Given the description of an element on the screen output the (x, y) to click on. 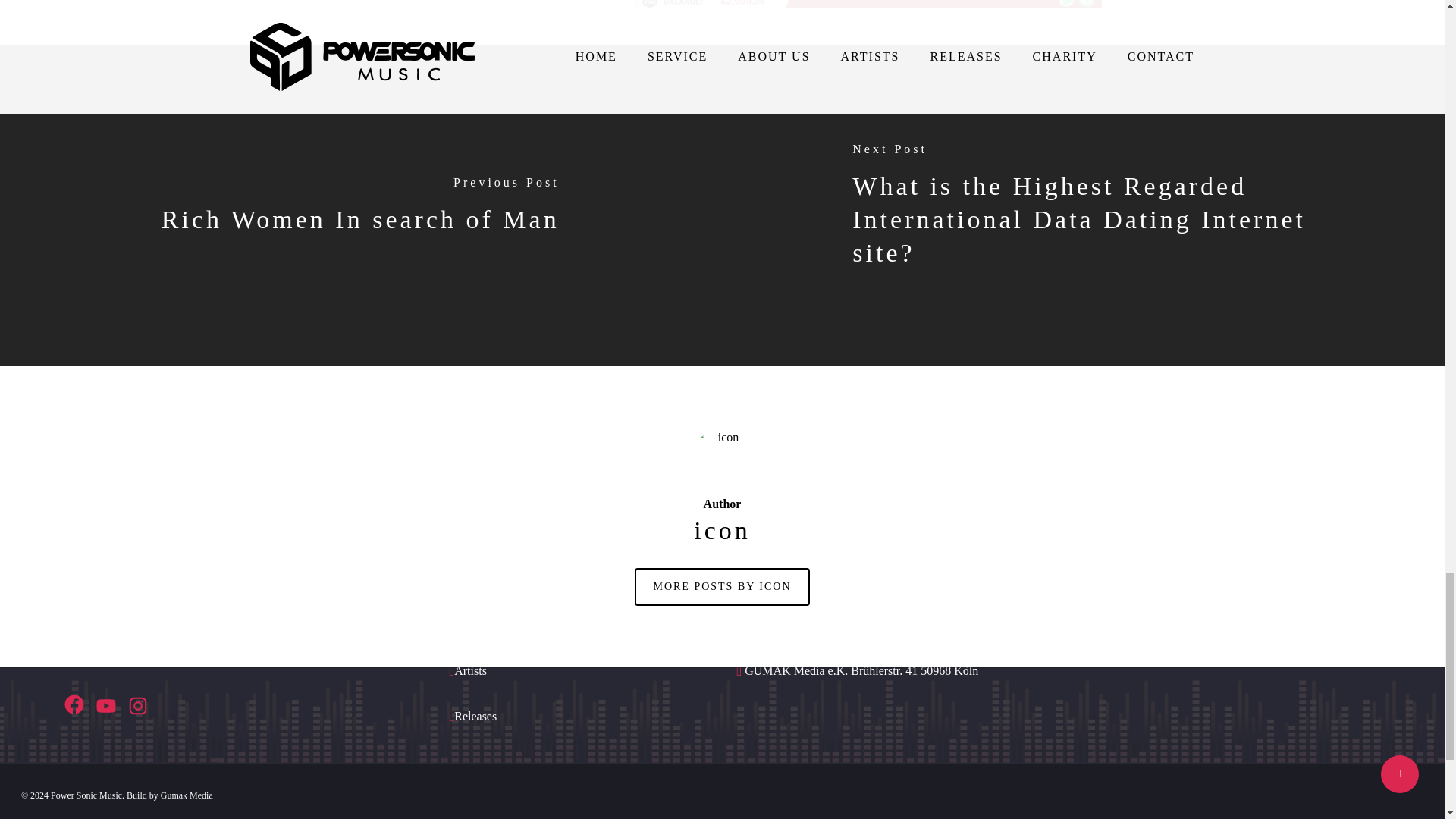
MORE POSTS BY ICON (721, 587)
